Given the description of an element on the screen output the (x, y) to click on. 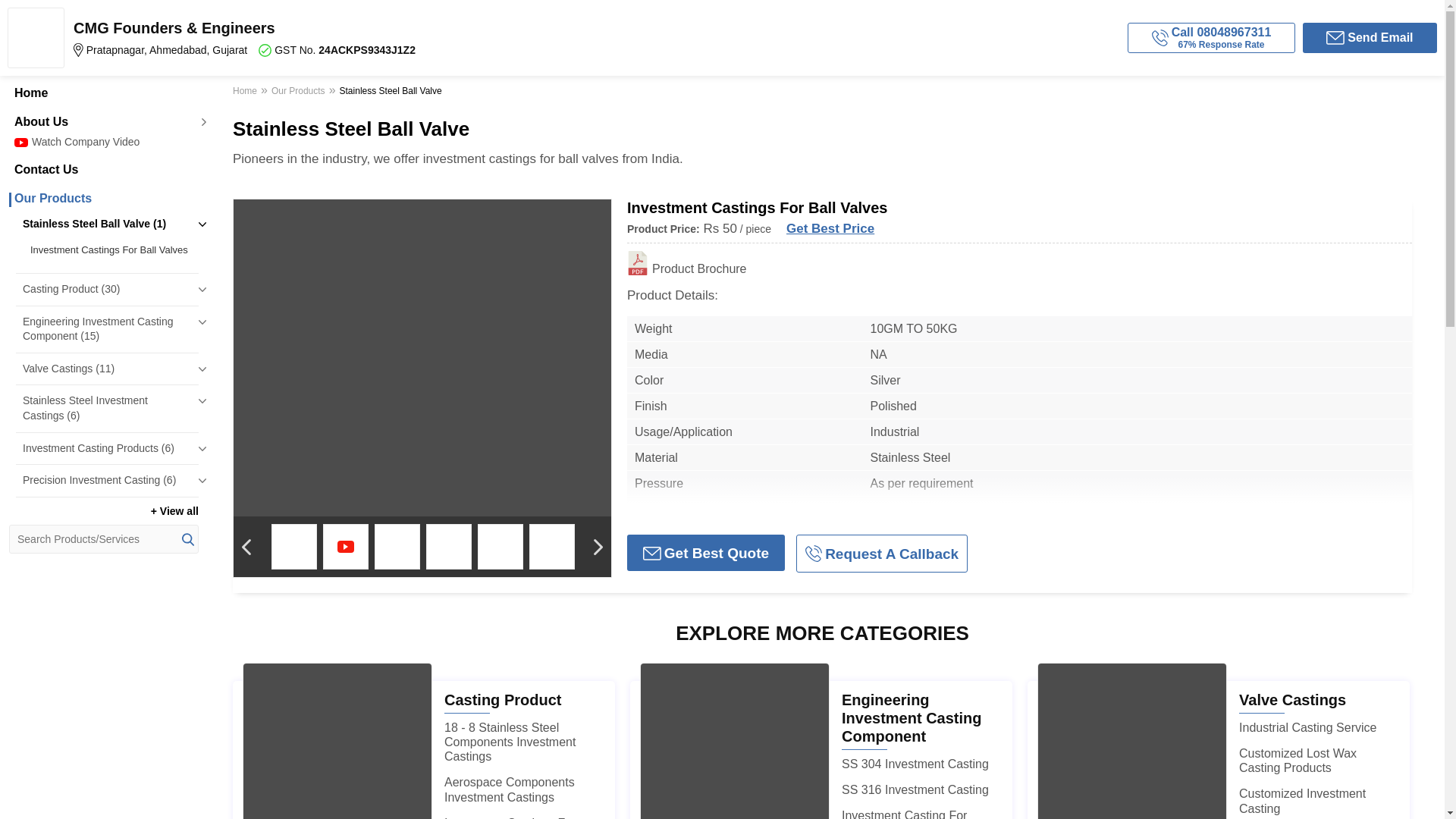
Contact Us (103, 169)
About Us (103, 121)
Our Products (103, 198)
Home (103, 92)
Investment Castings For Ball Valves (110, 250)
